Given the description of an element on the screen output the (x, y) to click on. 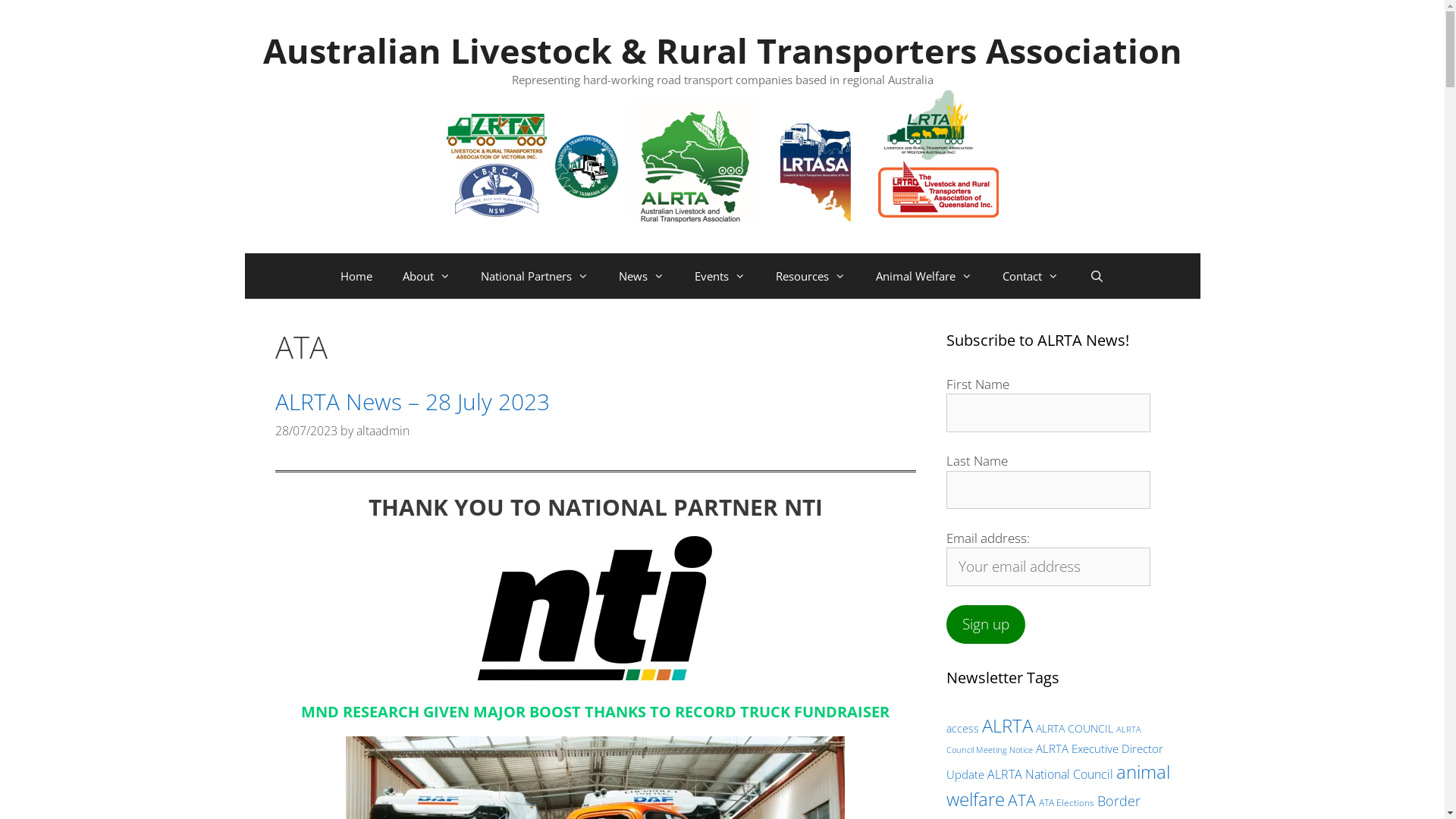
ATA Elections Element type: text (1066, 802)
Sign up Element type: text (985, 624)
National Partners Element type: text (534, 275)
access Element type: text (962, 727)
Australian Livestock & Rural Transporters Association Element type: text (721, 50)
ATA Element type: text (1021, 799)
altaadmin Element type: text (382, 430)
ALRTA Element type: text (1006, 724)
Animal Welfare Element type: text (923, 275)
animal welfare Element type: text (1058, 785)
News Element type: text (641, 275)
ALRTA Executive Director Update Element type: text (1054, 760)
ALRTA National Council Element type: text (1050, 773)
Events Element type: text (719, 275)
ALRTA COUNCIL Element type: text (1074, 727)
Resources Element type: text (810, 275)
ALRTA Council Meeting Notice Element type: text (1043, 739)
Contact Element type: text (1030, 275)
About Element type: text (426, 275)
Home Element type: text (356, 275)
